Given the description of an element on the screen output the (x, y) to click on. 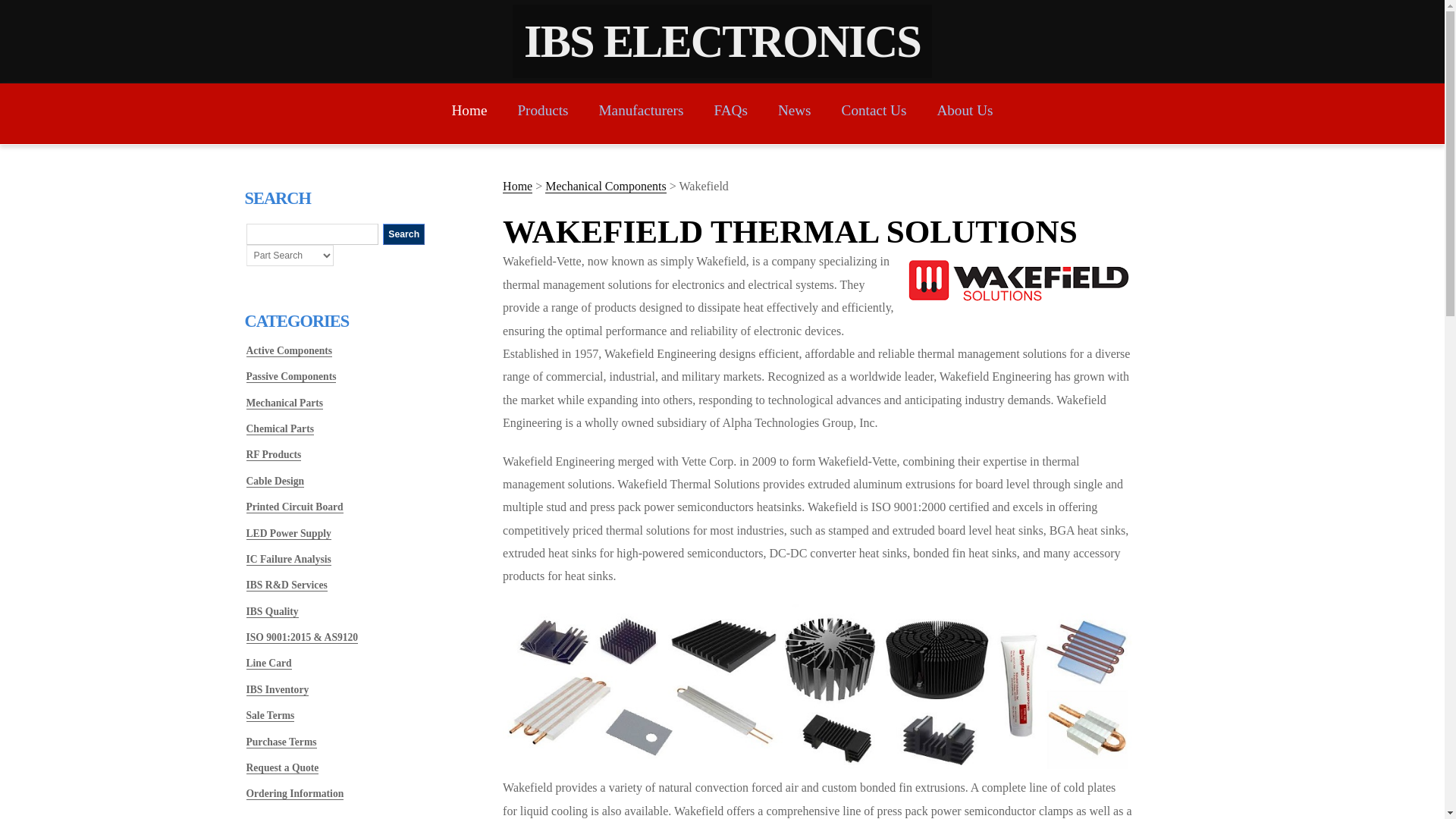
Search Choice (289, 255)
IC Failure Analysis (288, 559)
Chemical Parts (279, 428)
News (793, 109)
Request a Quote (282, 767)
IBS Electronics - Sale Terms (270, 715)
Mechanical Components (605, 186)
Search (403, 233)
Products (541, 109)
Purchase Terms (280, 742)
